Given the description of an element on the screen output the (x, y) to click on. 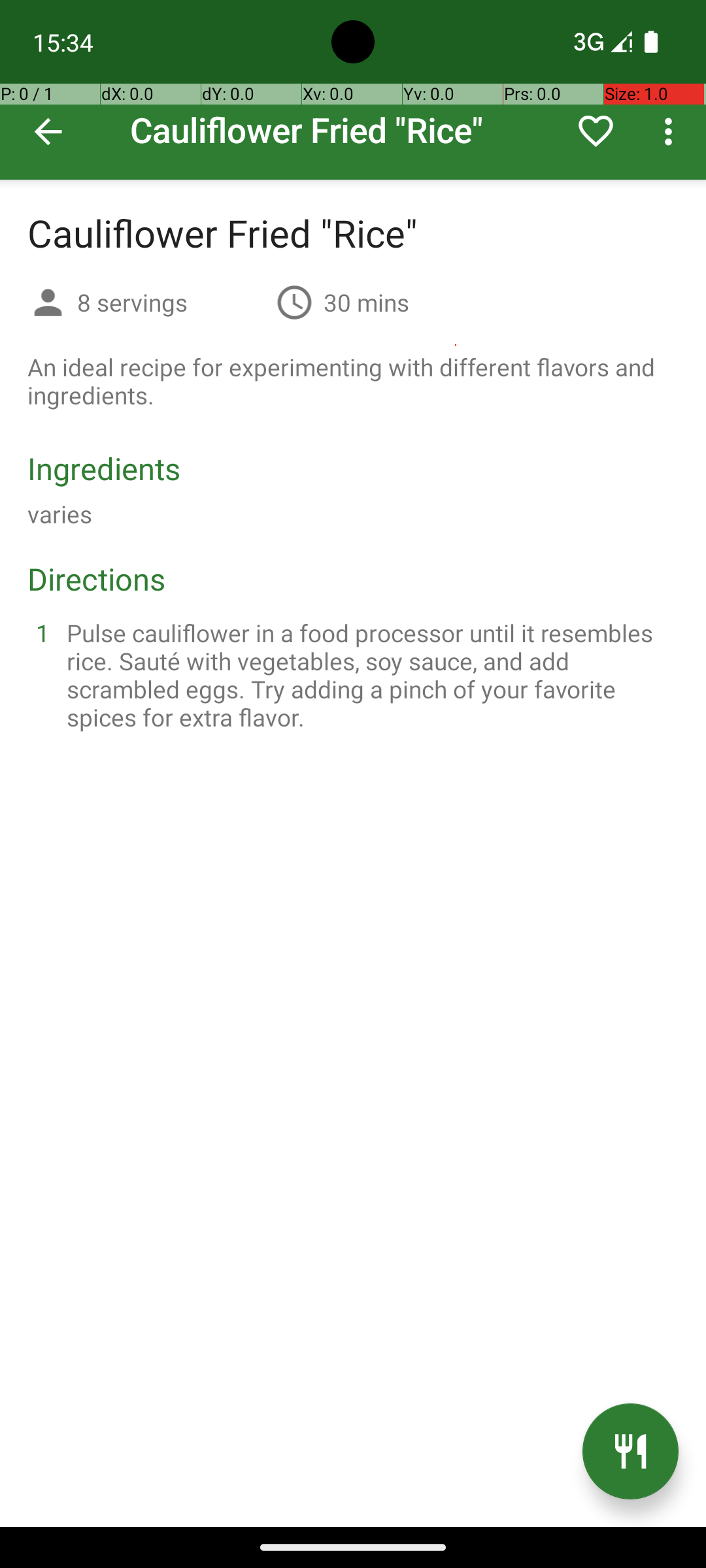
8 servings Element type: android.widget.TextView (170, 301)
30 mins Element type: android.widget.TextView (366, 301)
varies Element type: android.widget.TextView (59, 513)
Pulse cauliflower in a food processor until it resembles rice. Sauté with vegetables, soy sauce, and add scrambled eggs. Try adding a pinch of your favorite spices for extra flavor. Element type: android.widget.TextView (368, 674)
